Given the description of an element on the screen output the (x, y) to click on. 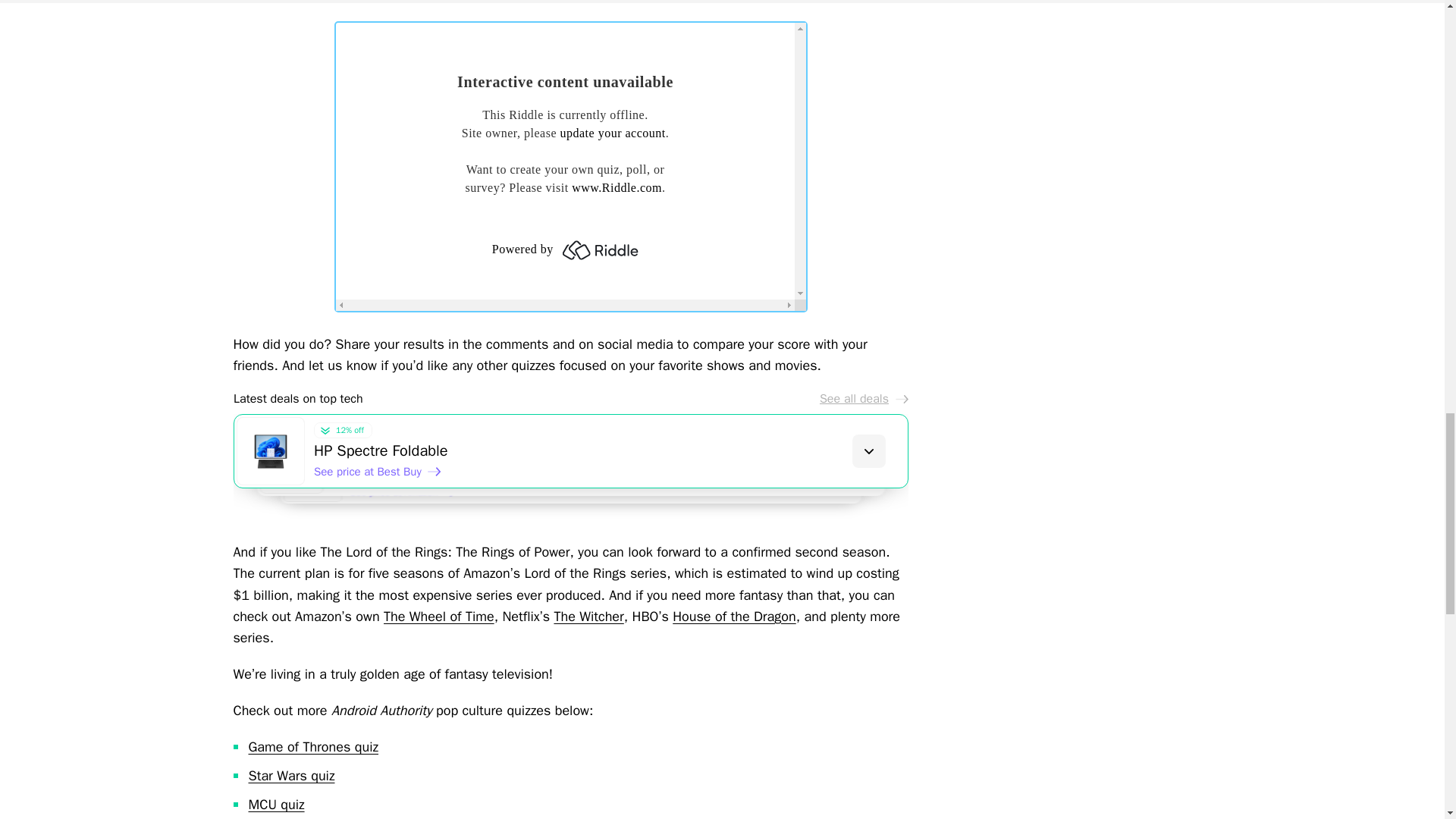
See price at Amazon (391, 484)
See all deals (862, 398)
See price at Best Buy (377, 471)
HP Spectre Foldable (609, 450)
See price at Amazon (409, 497)
